Given the description of an element on the screen output the (x, y) to click on. 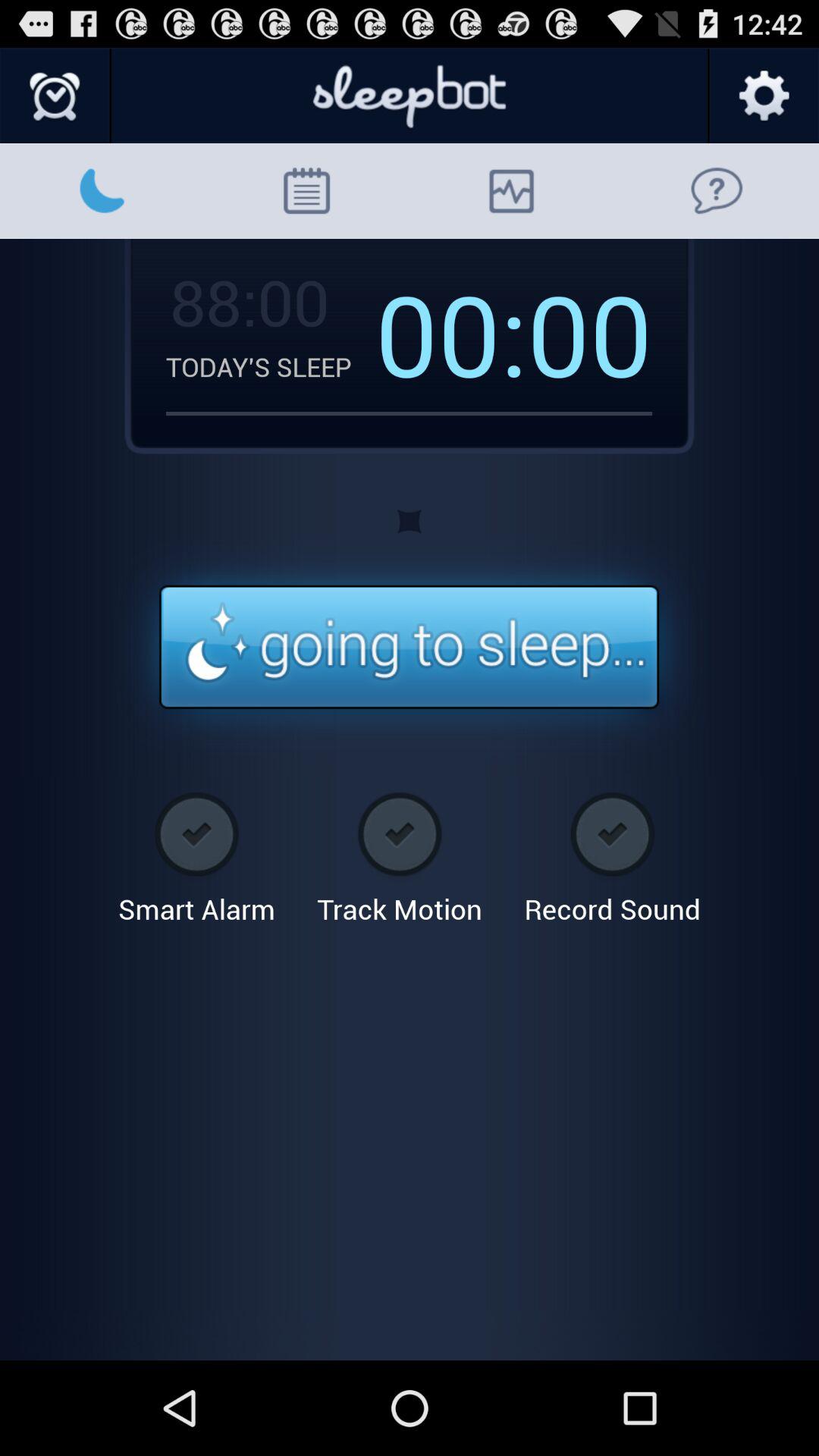
turn off track motion app (399, 852)
